Given the description of an element on the screen output the (x, y) to click on. 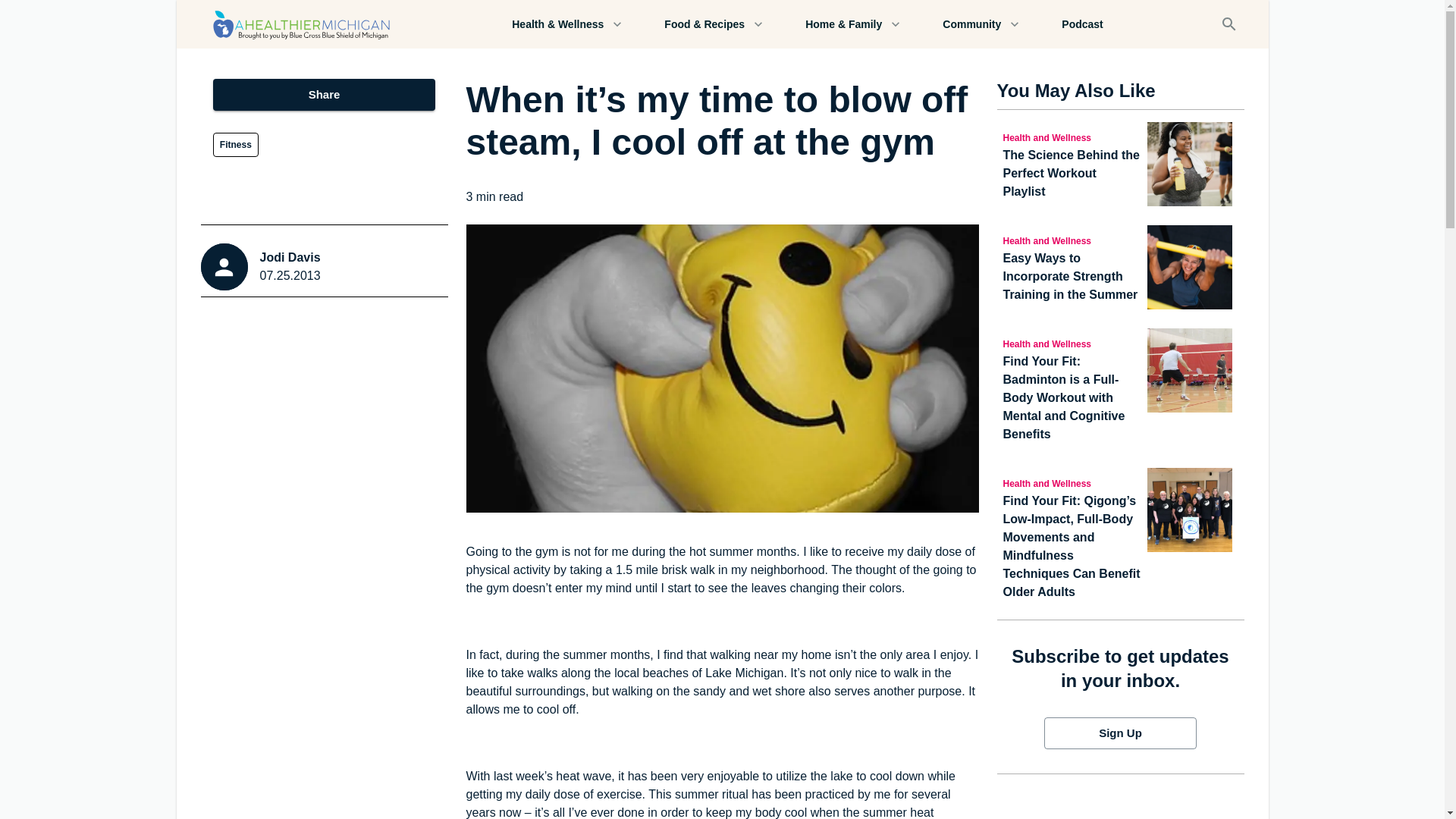
Health and Wellness (1072, 343)
Jodi Davis (289, 257)
Share (323, 94)
Health and Wellness (1072, 239)
Podcast (1081, 24)
Health and Wellness (1072, 483)
Easy Ways to Incorporate Strength Training in the Summer (1072, 276)
The Science Behind the Perfect Workout Playlist (1072, 173)
Health and Wellness (1072, 136)
Community (980, 24)
Fitness (235, 144)
Sign Up (1119, 733)
